Given the description of an element on the screen output the (x, y) to click on. 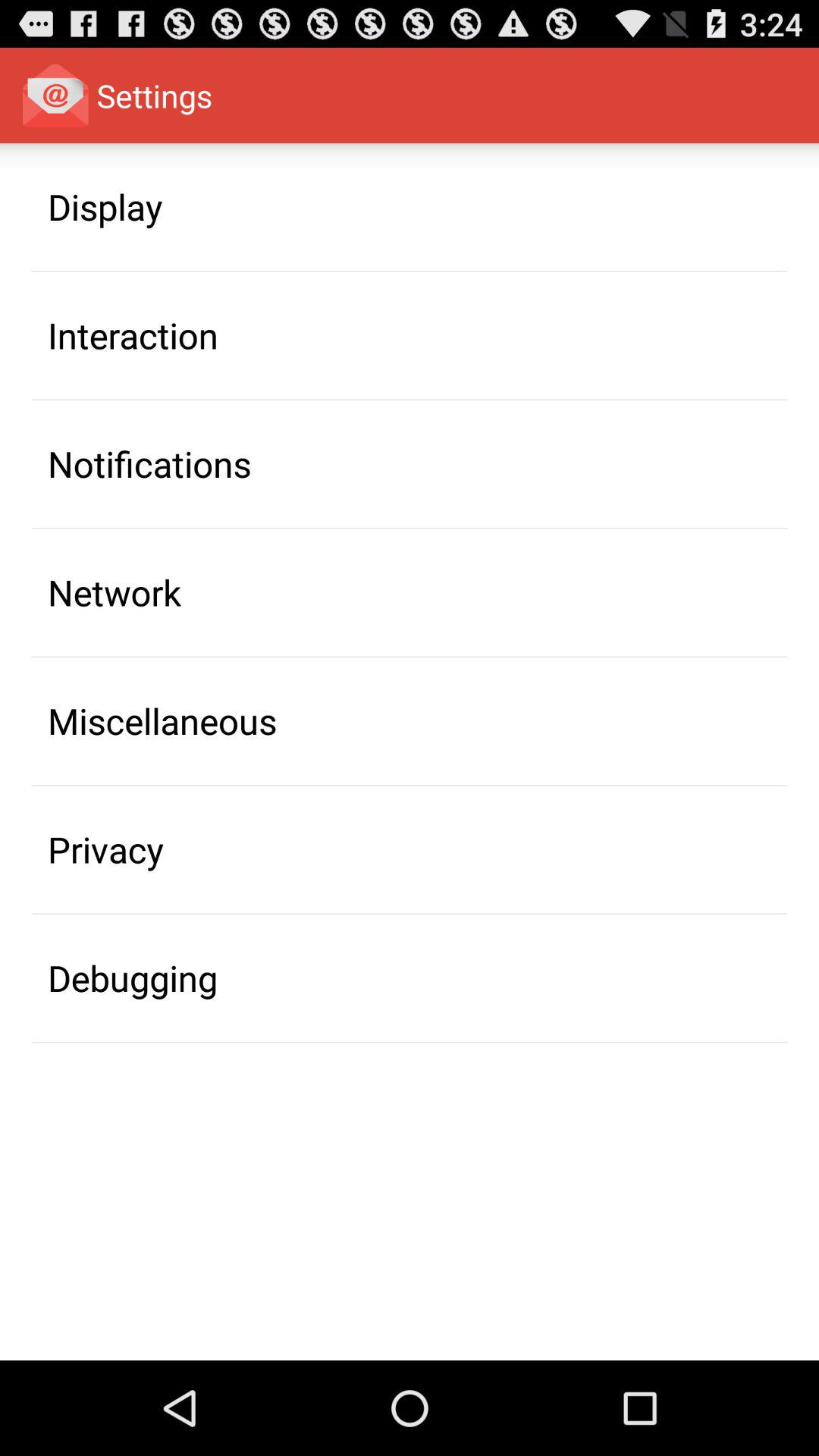
launch the item above network icon (149, 463)
